Given the description of an element on the screen output the (x, y) to click on. 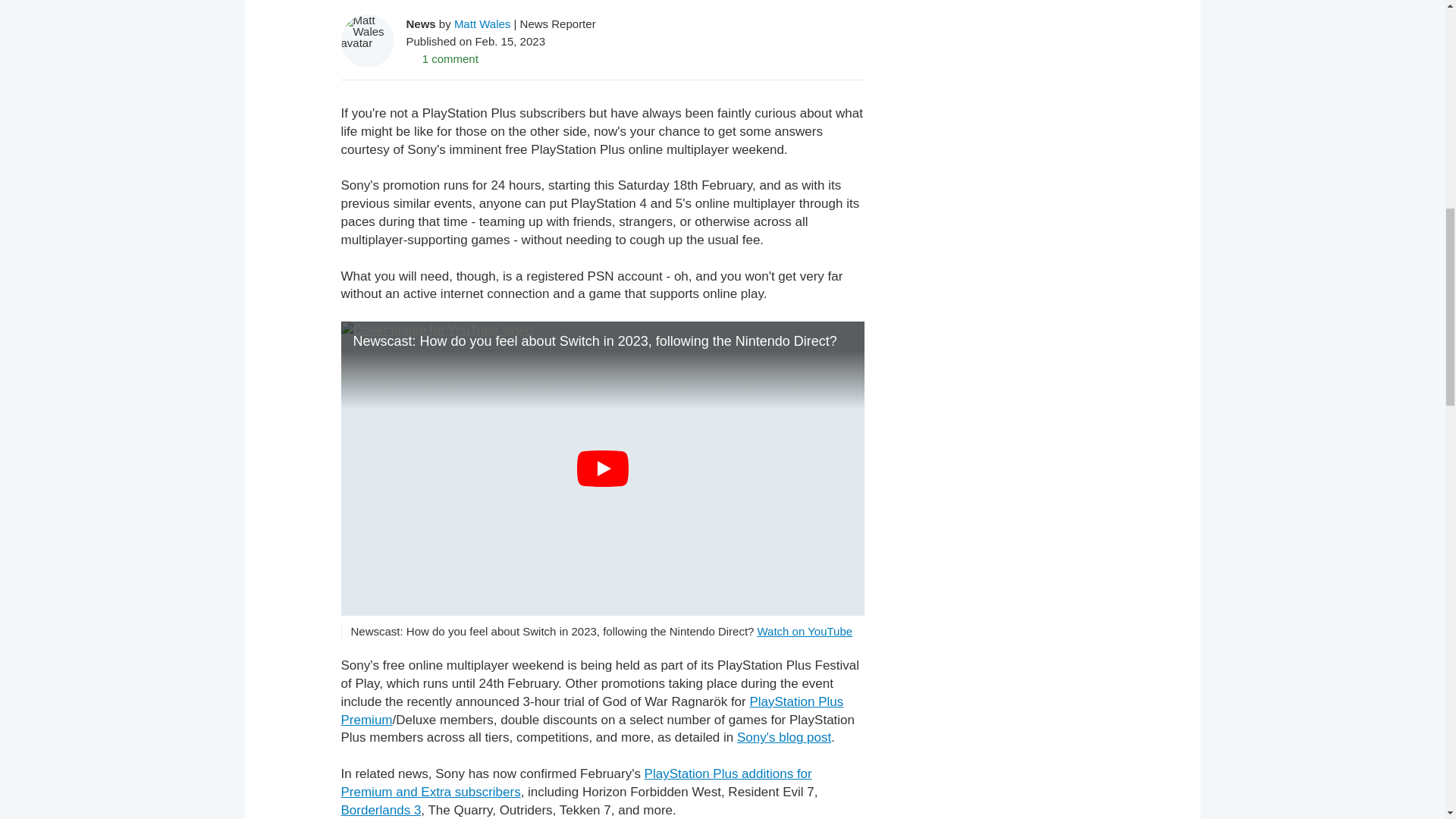
Matt Wales (482, 22)
PlayStation Plus additions for Premium and Extra subscribers (576, 782)
Borderlands 3 (381, 810)
Watch on YouTube (804, 631)
Sony's blog post (783, 737)
PlayStation Plus Premium (592, 710)
1 comment (442, 57)
